Given the description of an element on the screen output the (x, y) to click on. 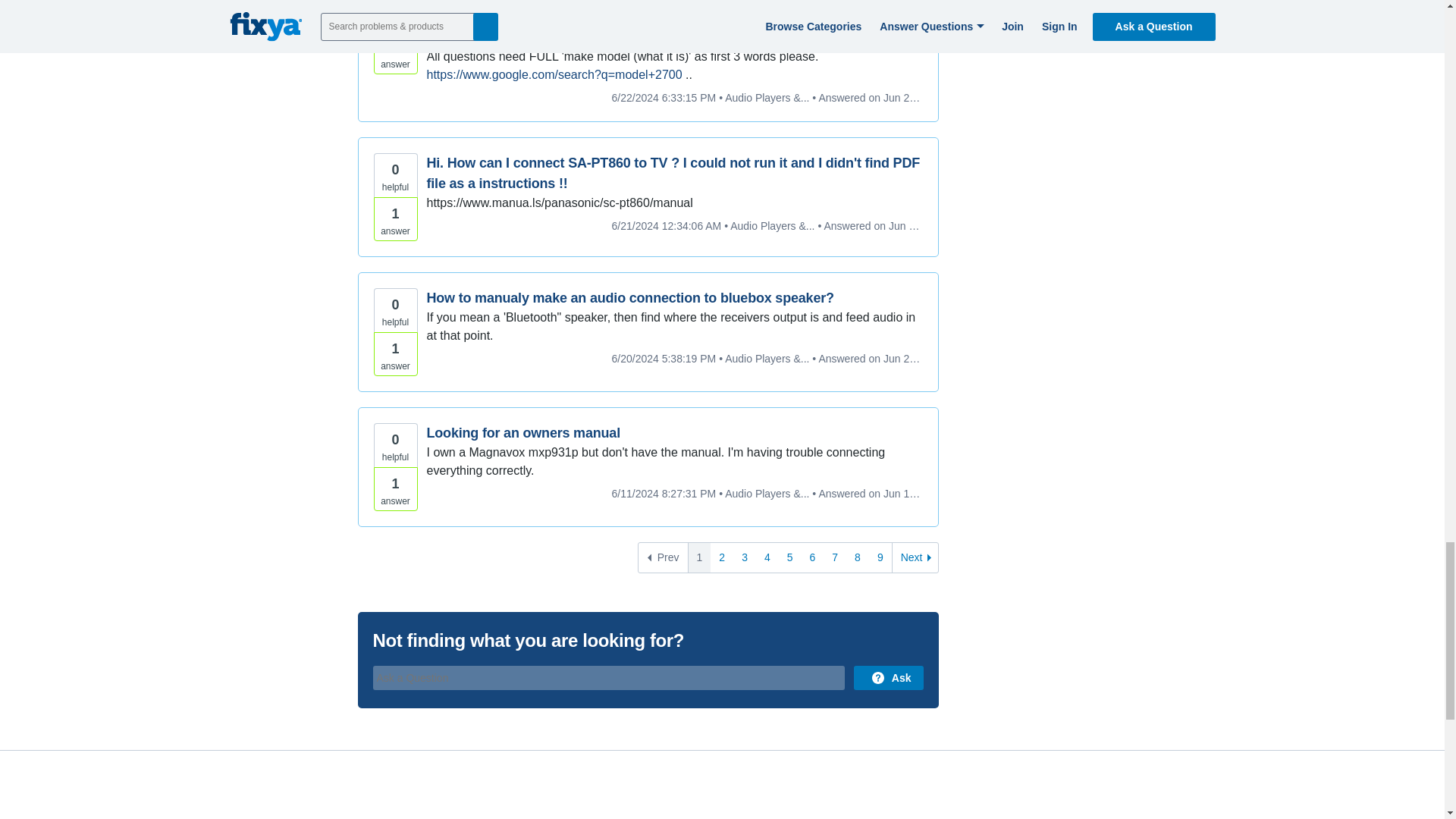
Ask (888, 677)
